Given the description of an element on the screen output the (x, y) to click on. 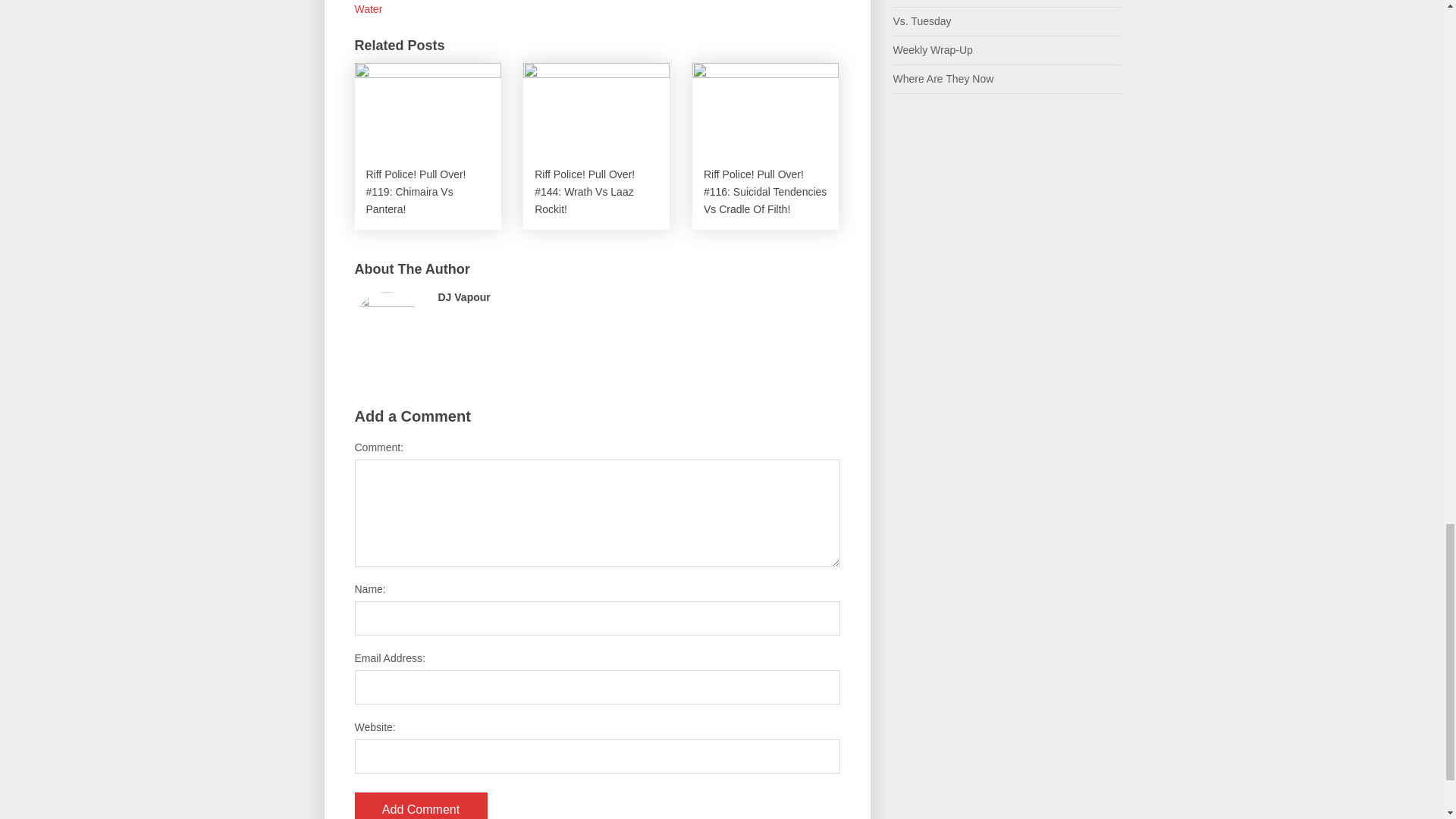
Add Comment (421, 805)
Smoke On Water (588, 7)
Add Comment (421, 805)
